Given the description of an element on the screen output the (x, y) to click on. 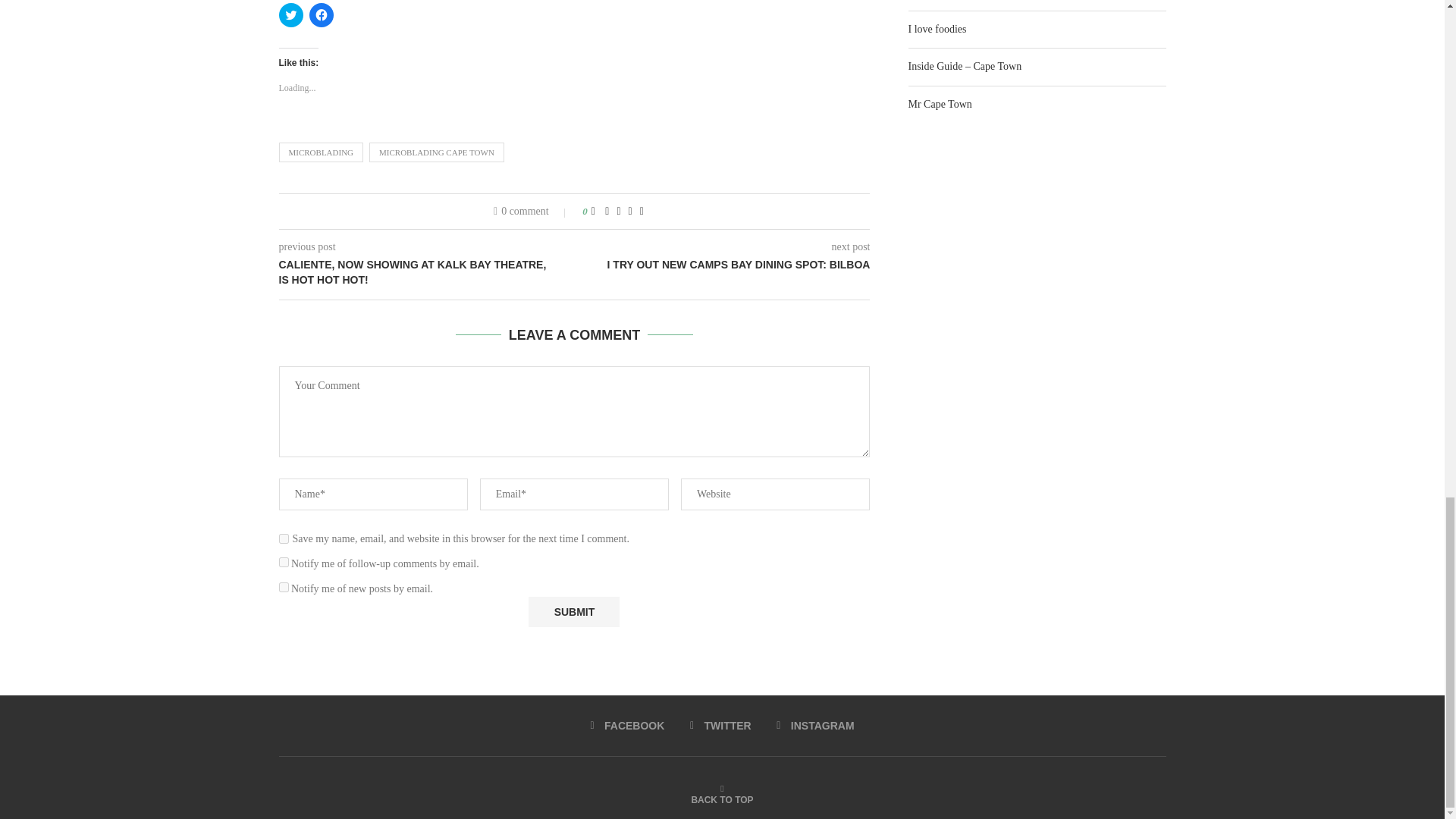
subscribe (283, 587)
Click to share on Facebook (320, 15)
subscribe (283, 562)
Submit (574, 612)
CALIENTE, NOW SHOWING AT KALK BAY THEATRE, IS HOT HOT HOT! (427, 272)
I TRY OUT NEW CAMPS BAY DINING SPOT: BILBOA (722, 264)
MICROBLADING CAPE TOWN (436, 152)
Submit (574, 612)
MICROBLADING (321, 152)
yes (283, 538)
